Given the description of an element on the screen output the (x, y) to click on. 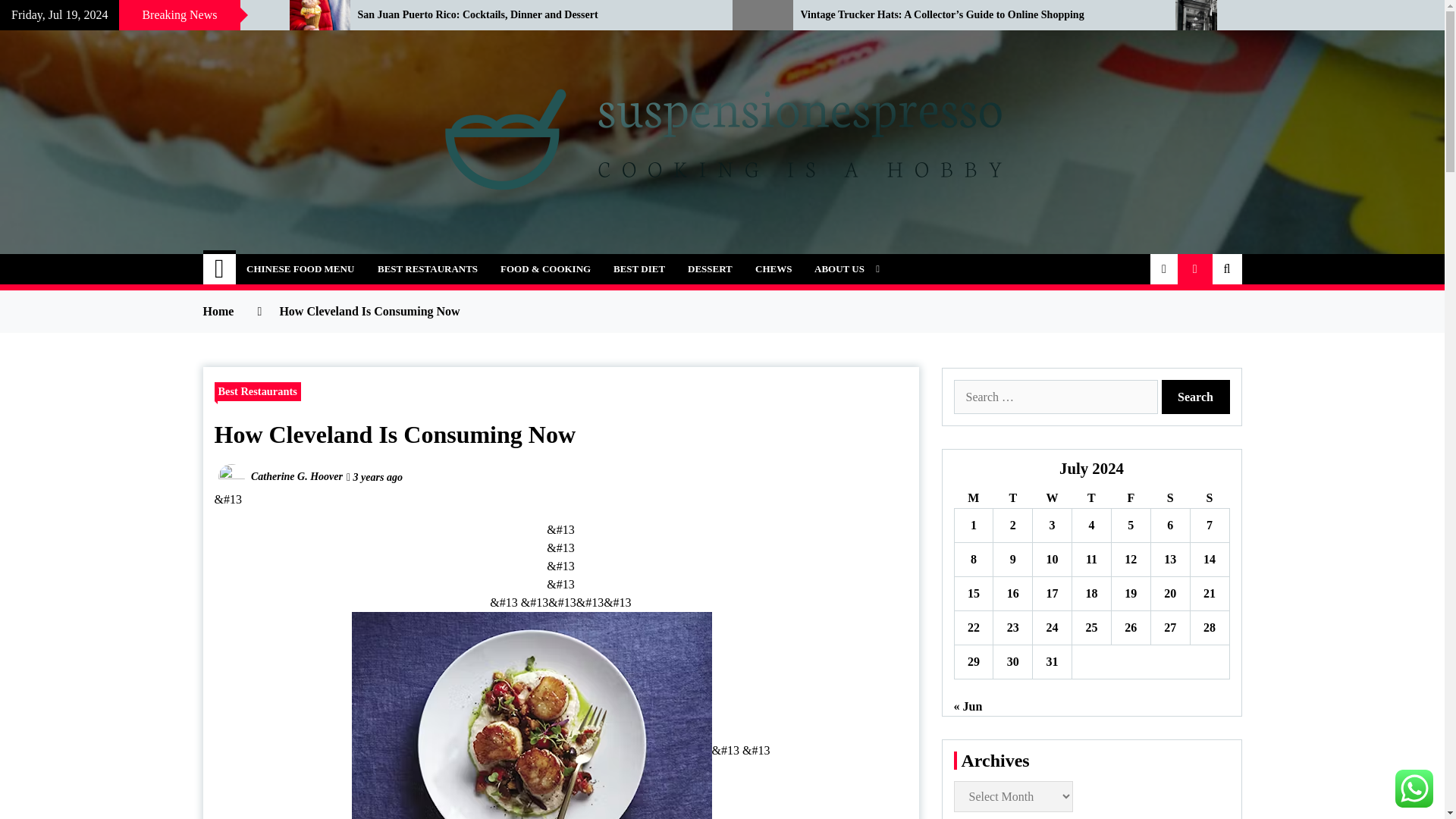
Friday (1130, 498)
Best Restaurants 2021 (531, 715)
Search (1195, 397)
Thursday (1091, 498)
Sunday (1208, 498)
Tuesday (1012, 498)
The Best Restaurant in Curacao: Sol Food (133, 15)
Monday (972, 498)
San Juan Puerto Rico: Cocktails, Dinner and Dessert (534, 15)
Home (219, 268)
Wednesday (1051, 498)
Saturday (1169, 498)
Search (1195, 397)
